Given the description of an element on the screen output the (x, y) to click on. 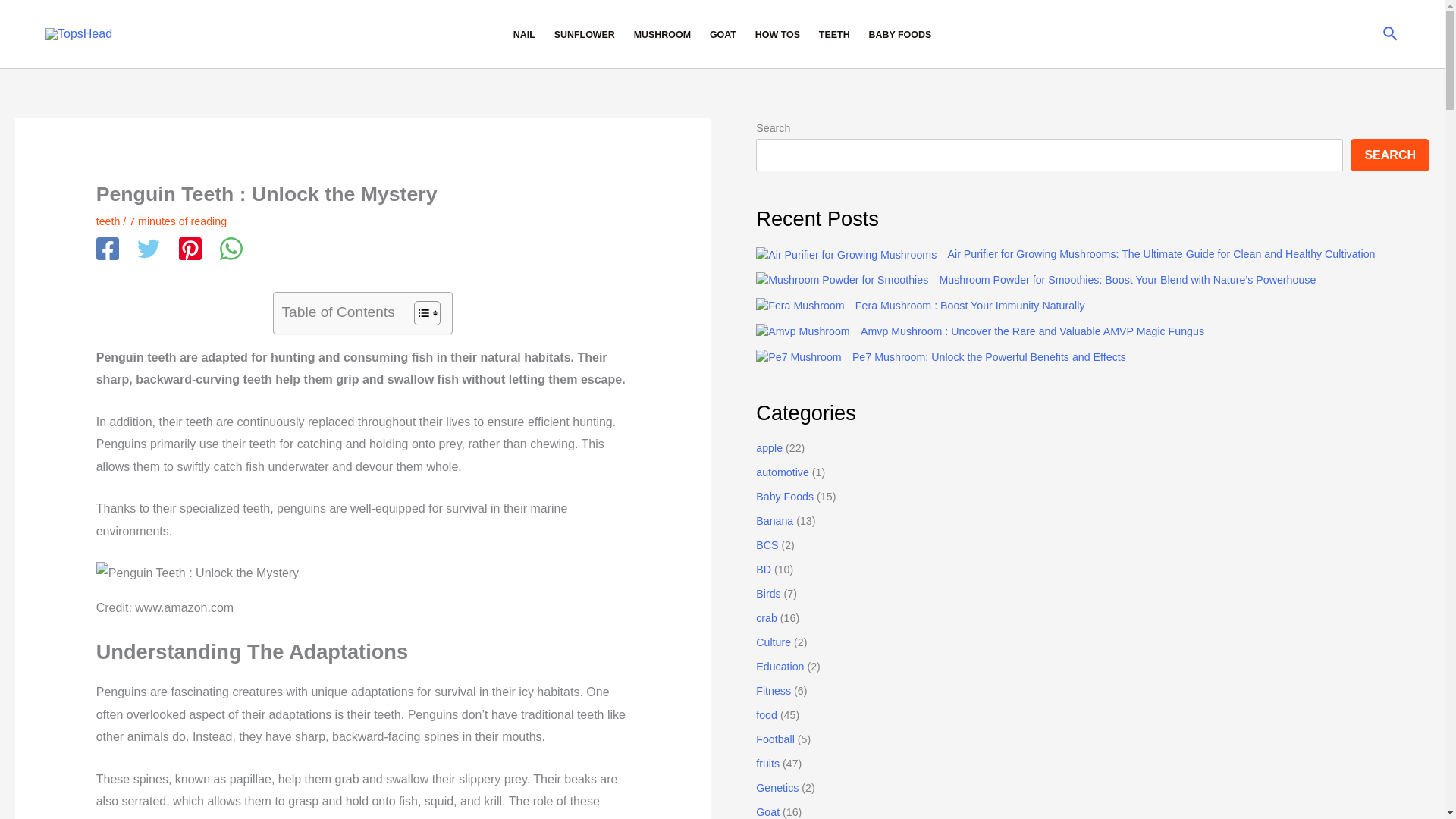
MUSHROOM (662, 34)
TEETH (834, 34)
BABY FOODS (899, 34)
teeth (108, 221)
HOW TOS (777, 34)
SUNFLOWER (584, 34)
GOAT (722, 34)
NAIL (523, 34)
